Given the description of an element on the screen output the (x, y) to click on. 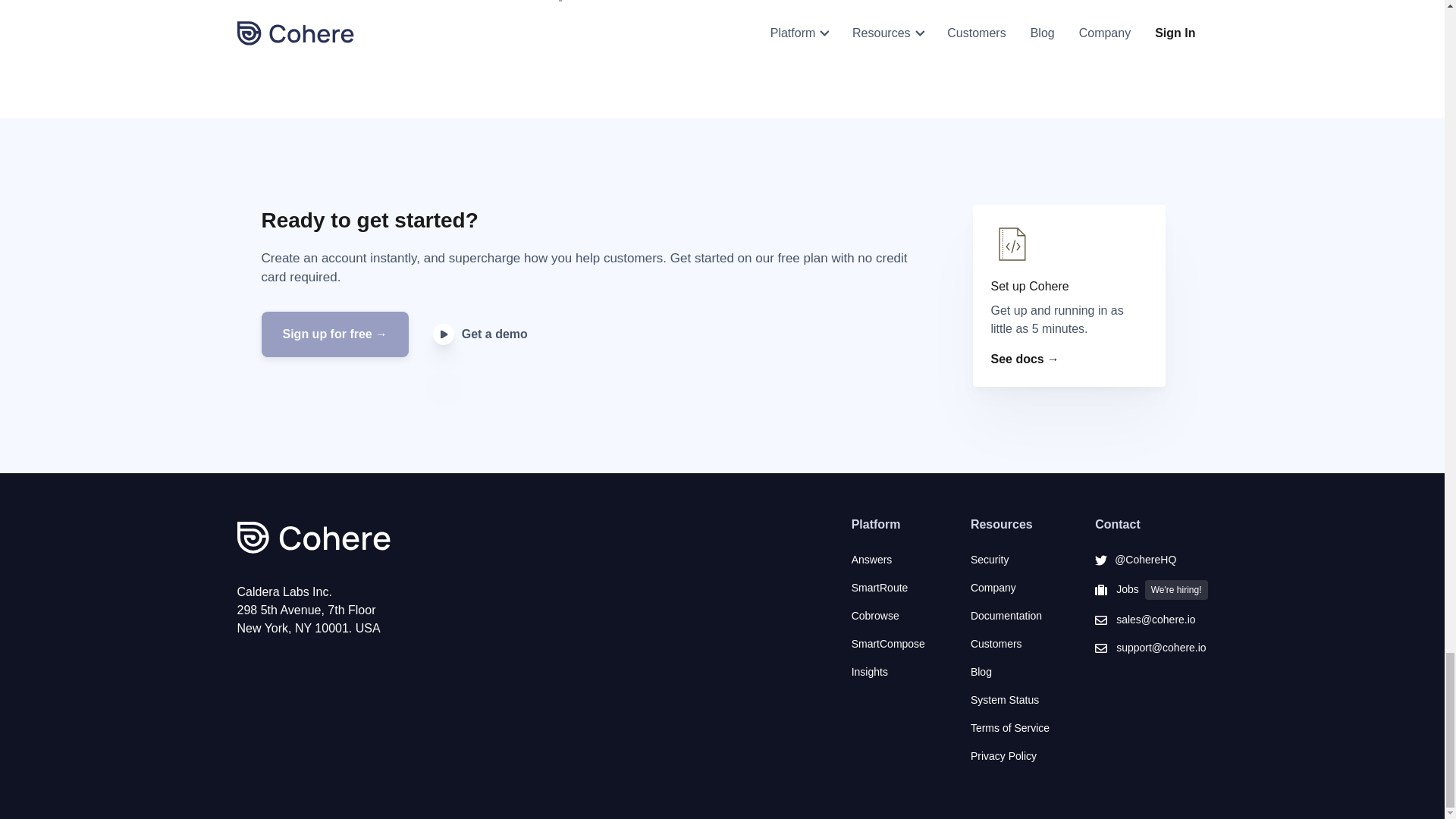
Answers (887, 560)
JobsWe're hiring! (1150, 589)
Company (1010, 587)
System Status (1010, 700)
Cobrowse (887, 616)
SmartCompose (887, 643)
Security (1010, 560)
Privacy Policy (1010, 756)
SmartRoute (887, 587)
Blog (1010, 672)
